Given the description of an element on the screen output the (x, y) to click on. 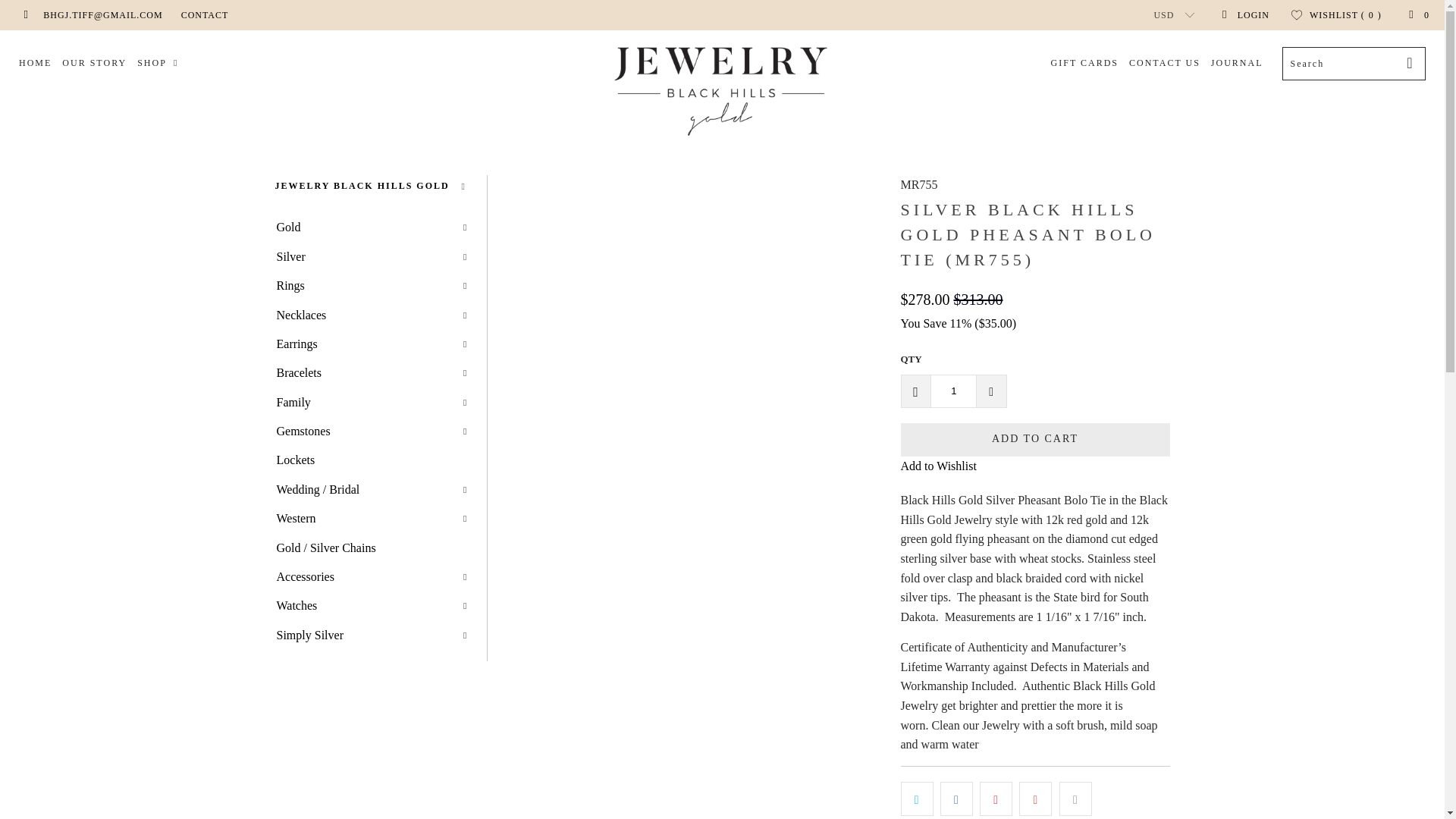
Share this on Pinterest (995, 799)
Share this on Twitter (917, 799)
Share this on Facebook (956, 799)
My Account  (1244, 15)
CONTACT (204, 15)
JOURNAL (1237, 64)
SHOP (159, 64)
CONTACT US (1164, 64)
1 (953, 390)
OUR STORY (94, 64)
